Given the description of an element on the screen output the (x, y) to click on. 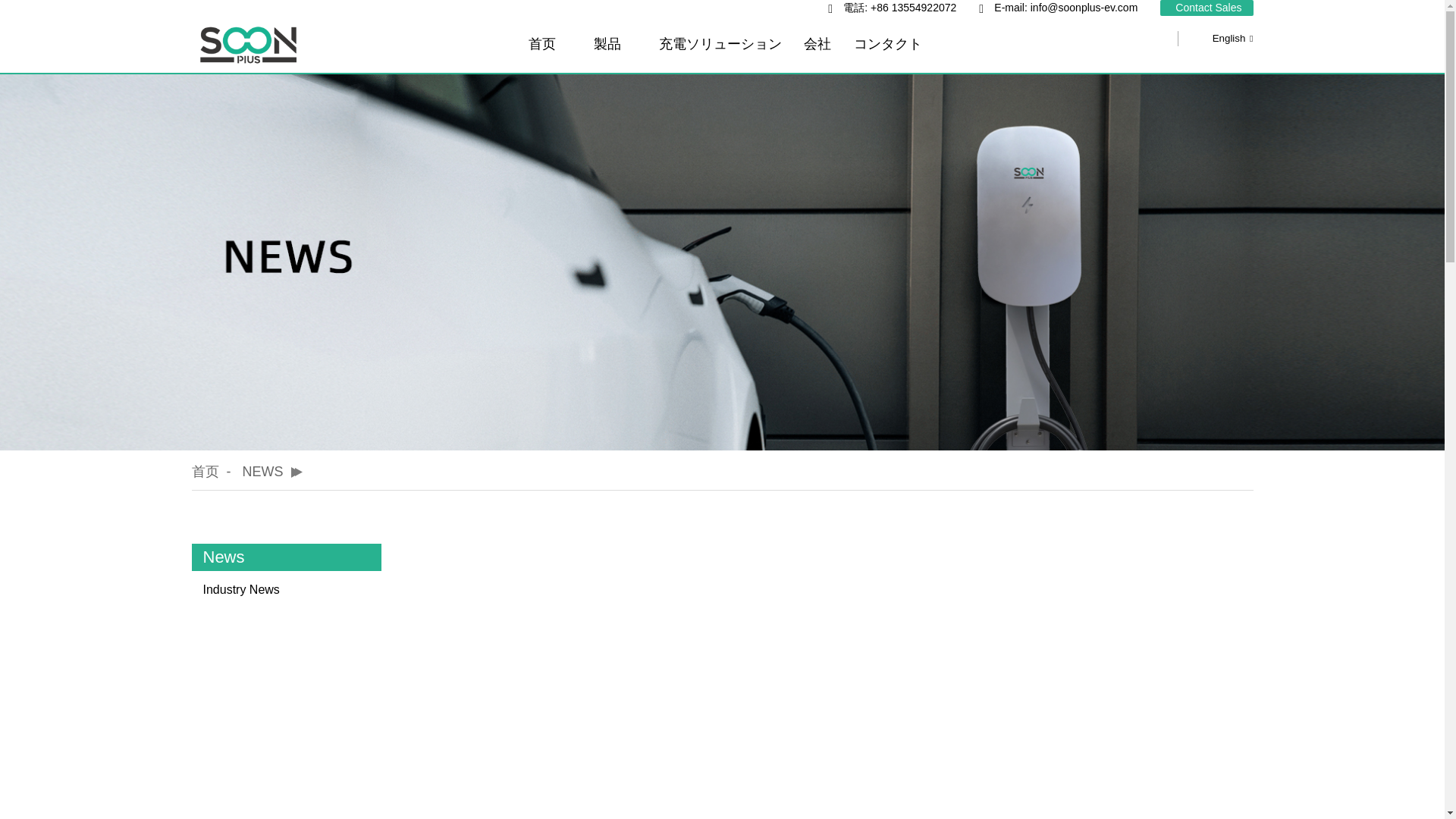
English (1220, 38)
View all posts in Industry News (292, 589)
Contact Sales (1207, 7)
Industry News (292, 589)
NEWS (263, 471)
